Given the description of an element on the screen output the (x, y) to click on. 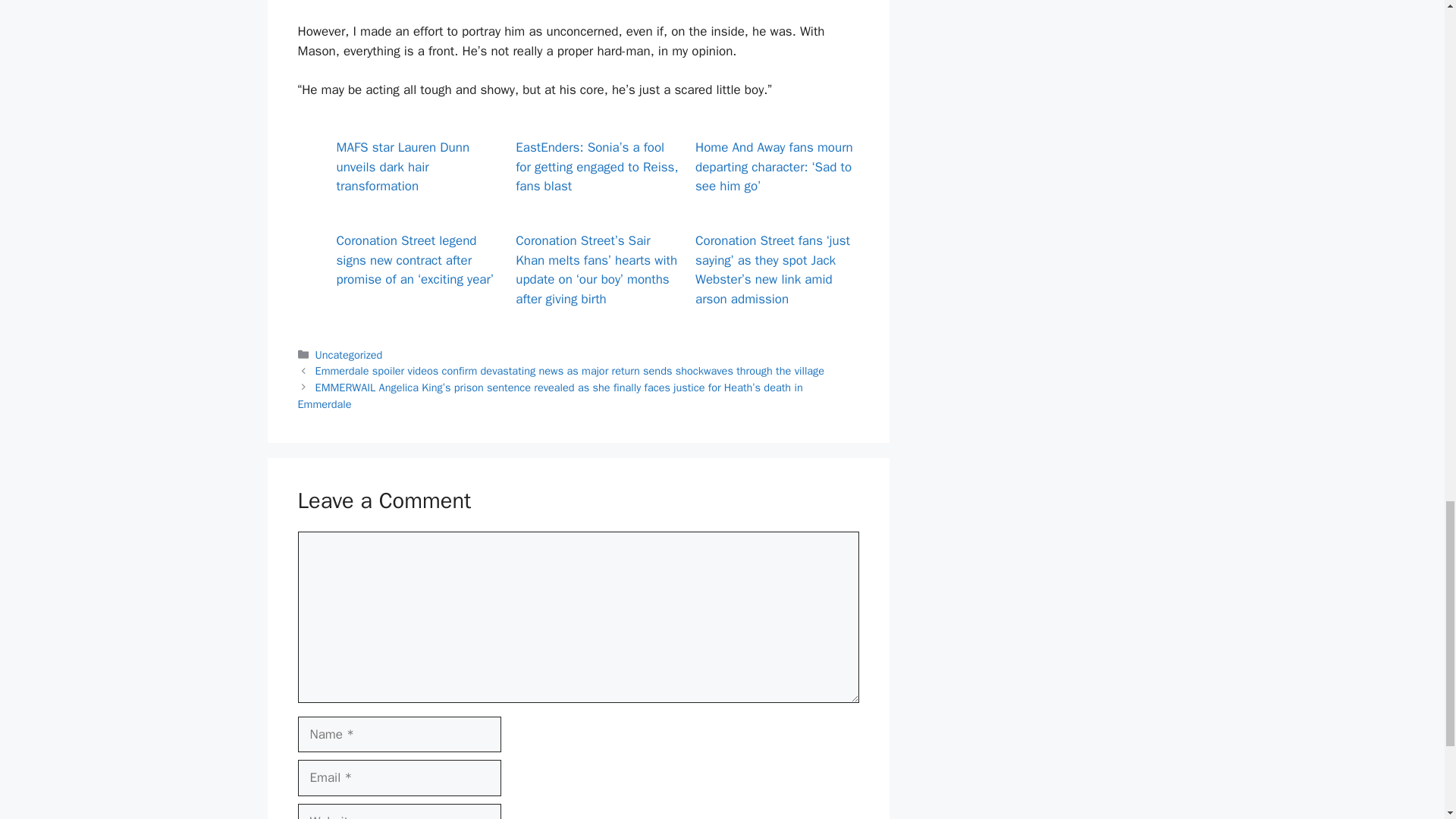
MAFS star Lauren Dunn unveils dark hair transformation (403, 166)
Uncategorized (348, 354)
